Given the description of an element on the screen output the (x, y) to click on. 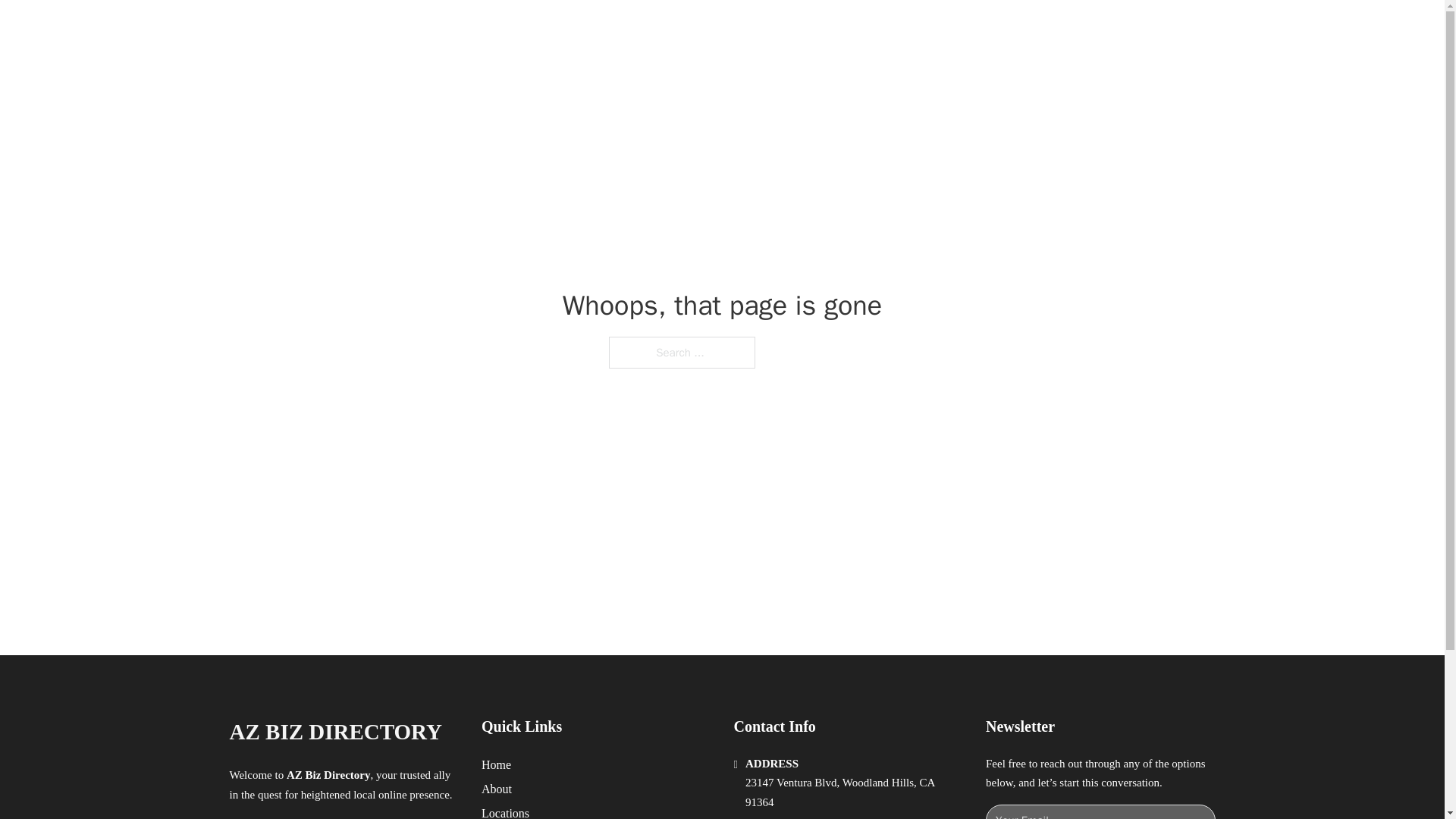
Home (496, 764)
About (496, 788)
AZ BIZ DIRECTORY (403, 28)
HOME (919, 29)
AZ BIZ DIRECTORY (334, 732)
LOCATIONS (990, 29)
Locations (505, 811)
